Given the description of an element on the screen output the (x, y) to click on. 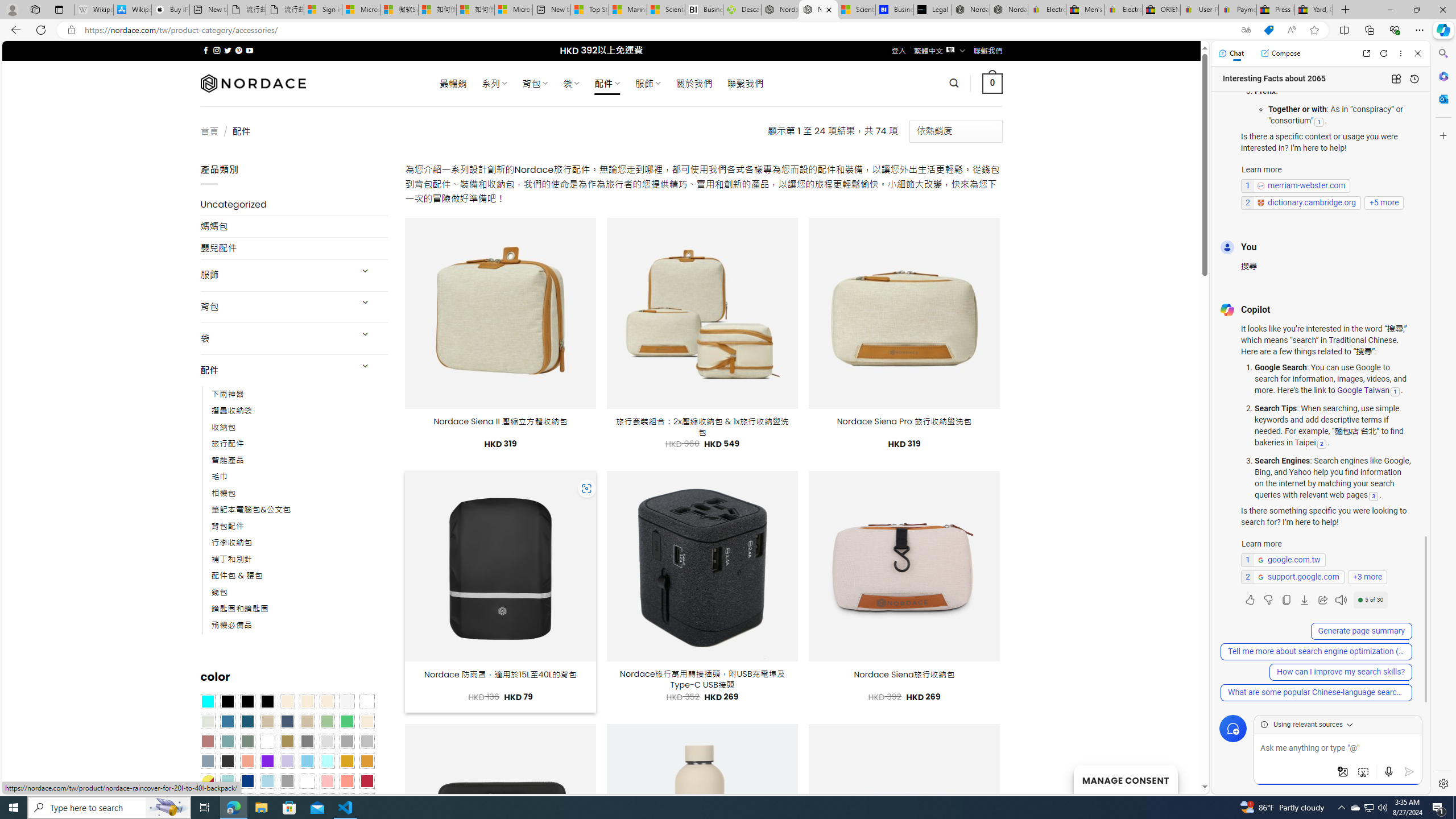
Open link in new tab (1366, 53)
